Given the description of an element on the screen output the (x, y) to click on. 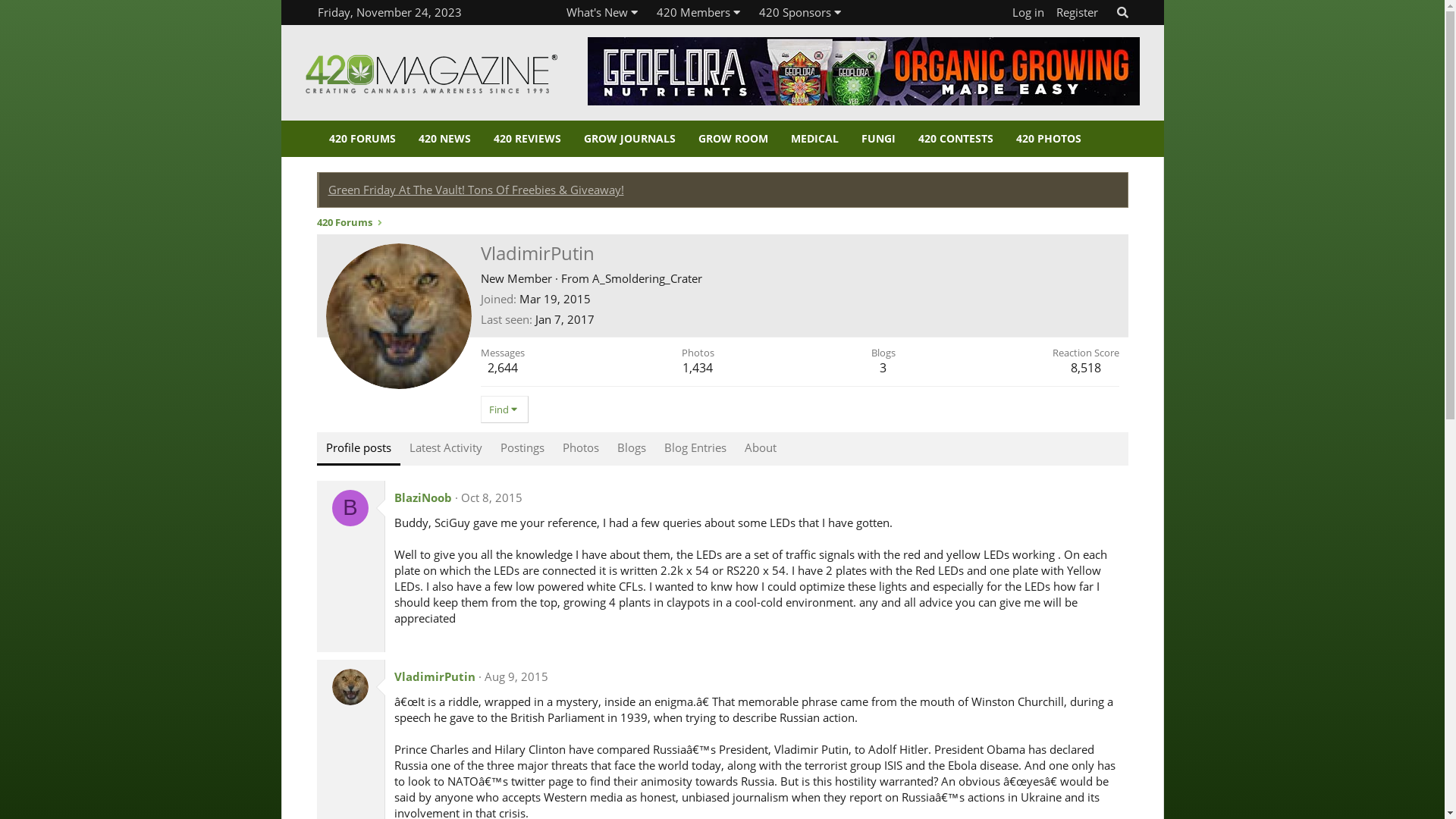
1,434 Element type: text (697, 367)
420 PHOTOS Element type: text (1048, 138)
Photos Element type: text (580, 448)
About Element type: text (760, 448)
Latest Activity Element type: text (445, 448)
420 Sponsors Element type: text (795, 12)
What's New Element type: text (596, 12)
420 NEWS Element type: text (443, 138)
Find Element type: text (504, 409)
420 FORUMS Element type: text (361, 138)
Postings Element type: text (522, 448)
420 CONTESTS Element type: text (955, 138)
BlaziNoob Element type: text (422, 497)
GROW JOURNALS Element type: text (628, 138)
Profile posts Element type: text (358, 448)
3 Element type: text (882, 367)
Green Friday At The Vault! Tons Of Freebies & Giveaway! Element type: text (475, 189)
420 Members Element type: text (693, 12)
GeoFlora Nutrients Element type: hover (862, 70)
Aug 9, 2015 Element type: text (515, 676)
A_Smoldering_Crater Element type: text (646, 277)
MEDICAL Element type: text (814, 138)
2,644 Element type: text (501, 367)
B Element type: text (350, 507)
Blog Entries Element type: text (695, 448)
VladimirPutin Element type: text (434, 676)
Search Element type: hover (1122, 12)
GROW ROOM Element type: text (733, 138)
FUNGI Element type: text (877, 138)
Oct 8, 2015 Element type: text (491, 497)
Blogs Element type: text (631, 448)
420 Forums Element type: text (344, 222)
Register Element type: text (1077, 12)
Log in Element type: text (1028, 12)
420 REVIEWS Element type: text (527, 138)
